Given the description of an element on the screen output the (x, y) to click on. 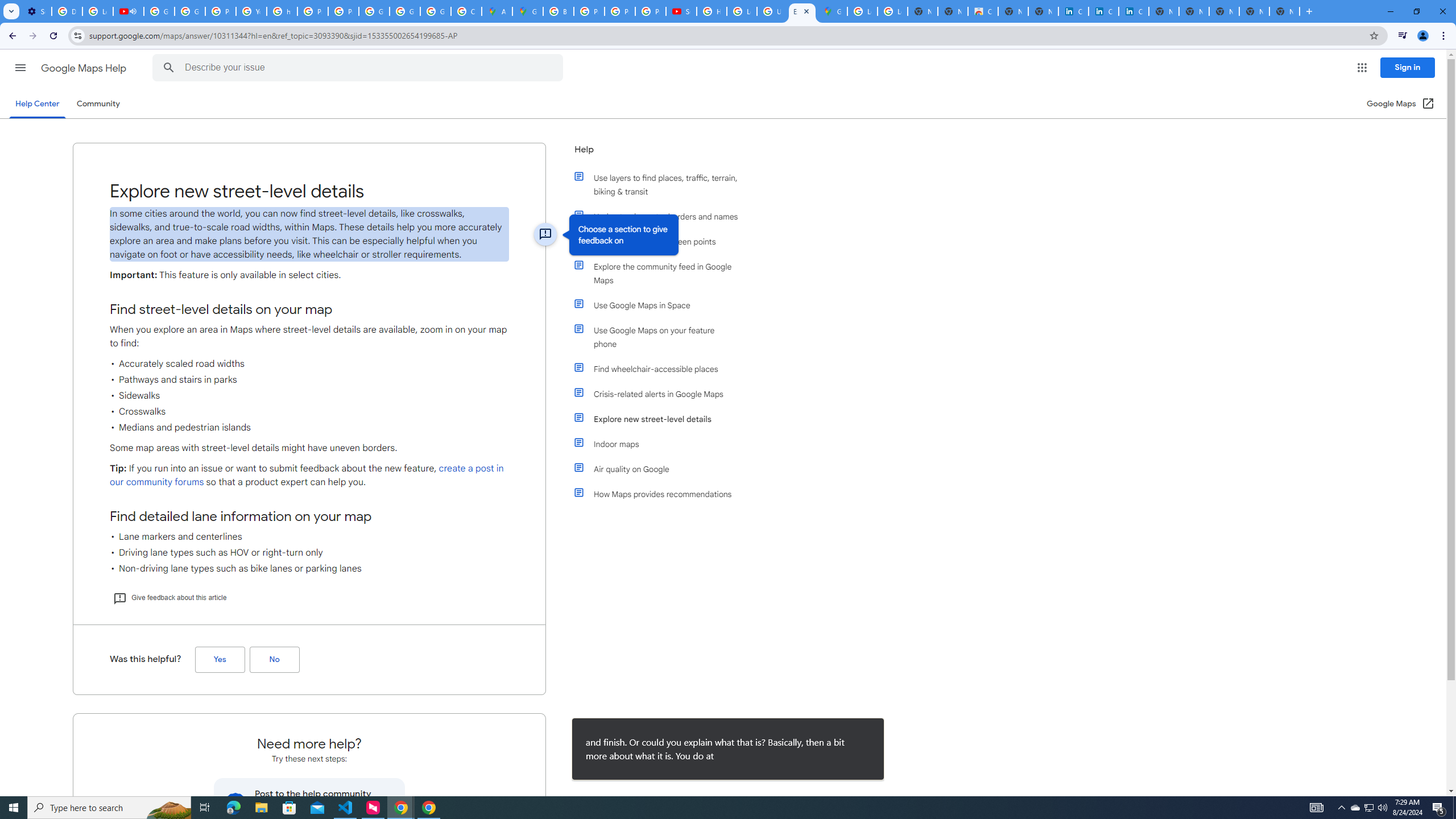
Non-driving lane types such as bike lanes or parking lanes (309, 568)
Settings - Customize profile (36, 11)
Cookie Policy | LinkedIn (1103, 11)
Learn how to find your photos - Google Photos Help (97, 11)
Privacy Help Center - Policies Help (220, 11)
Google Maps Help (84, 68)
How Maps provides recommendations (661, 493)
Understand country borders and names (661, 216)
Search Help Center (168, 67)
Create your Google Account (465, 11)
